Given the description of an element on the screen output the (x, y) to click on. 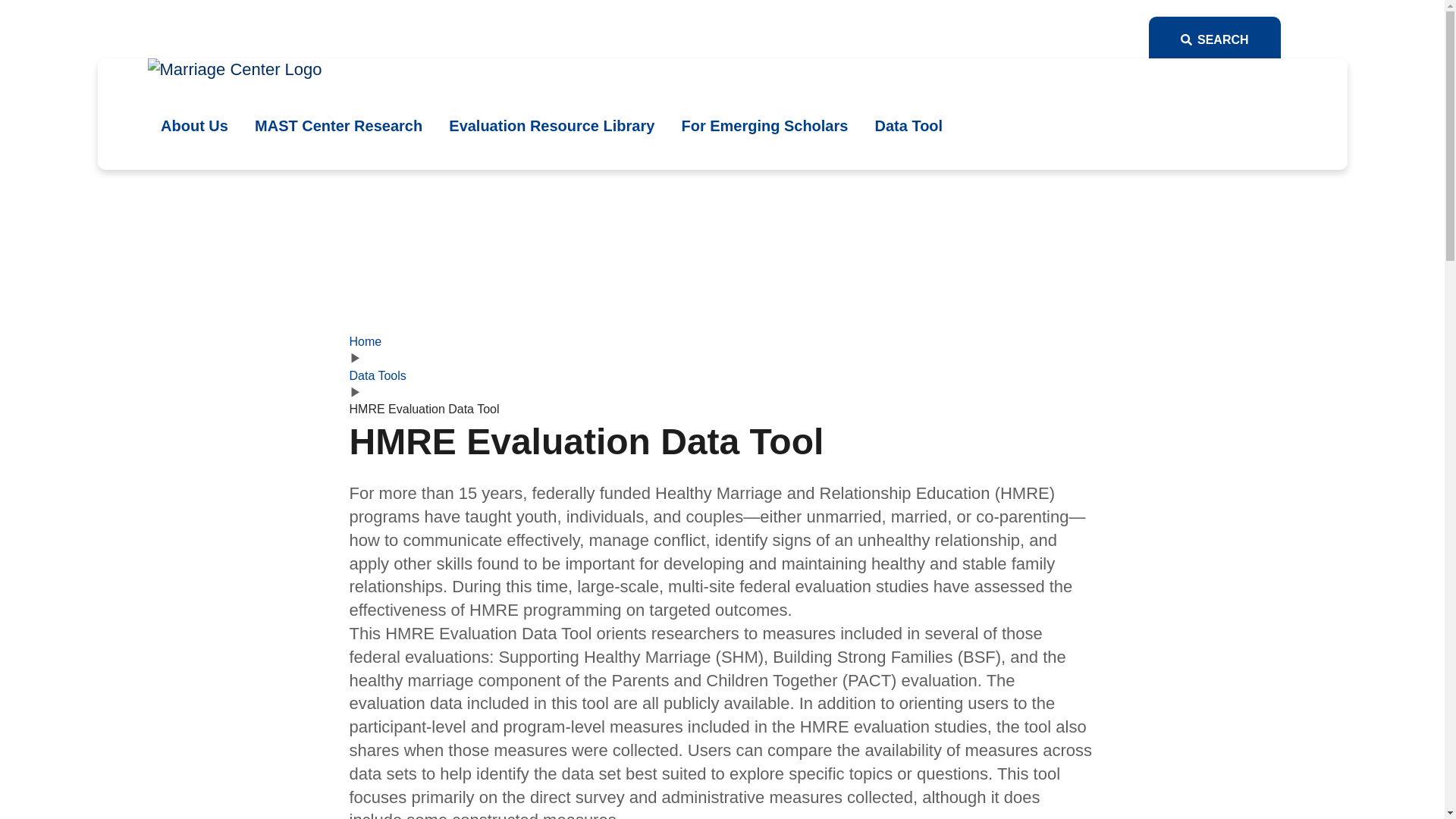
SEARCH (1214, 37)
For Emerging Scholars (764, 125)
Data Tools (377, 375)
Data Tools (377, 375)
HMRE Evaluation Data Tool (424, 408)
Home (365, 341)
Data Tool (908, 125)
MAST Center Research (338, 125)
About Us (194, 125)
Evaluation Resource Library (551, 125)
